Given the description of an element on the screen output the (x, y) to click on. 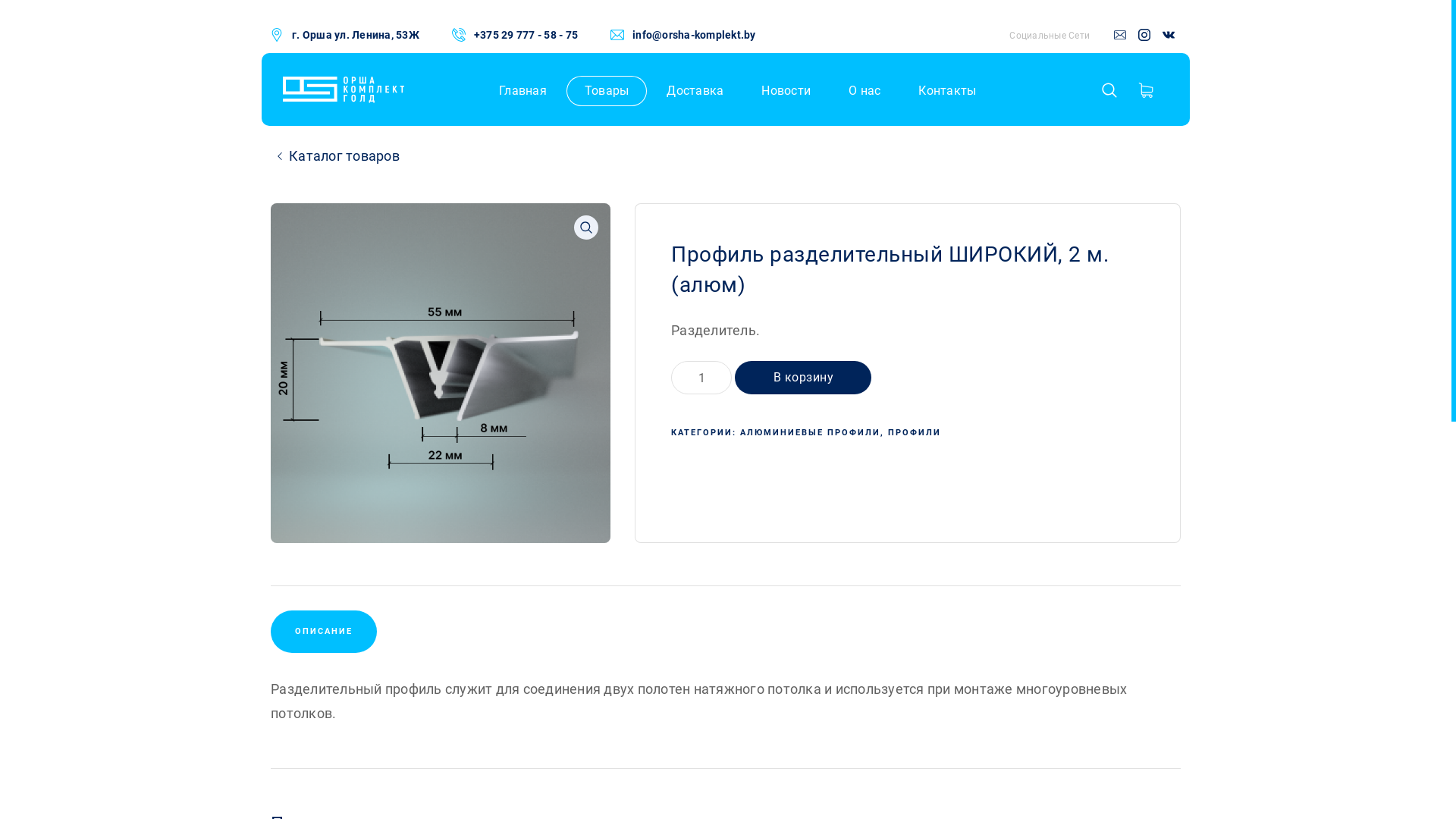
profil-7 Element type: hover (440, 372)
instagram Element type: hover (1144, 35)
info@orsha-komplekt.by Element type: text (694, 34)
+375 29 777 - 58 - 75 Element type: text (525, 34)
email Element type: hover (1119, 35)
vk Element type: hover (1168, 35)
